Given the description of an element on the screen output the (x, y) to click on. 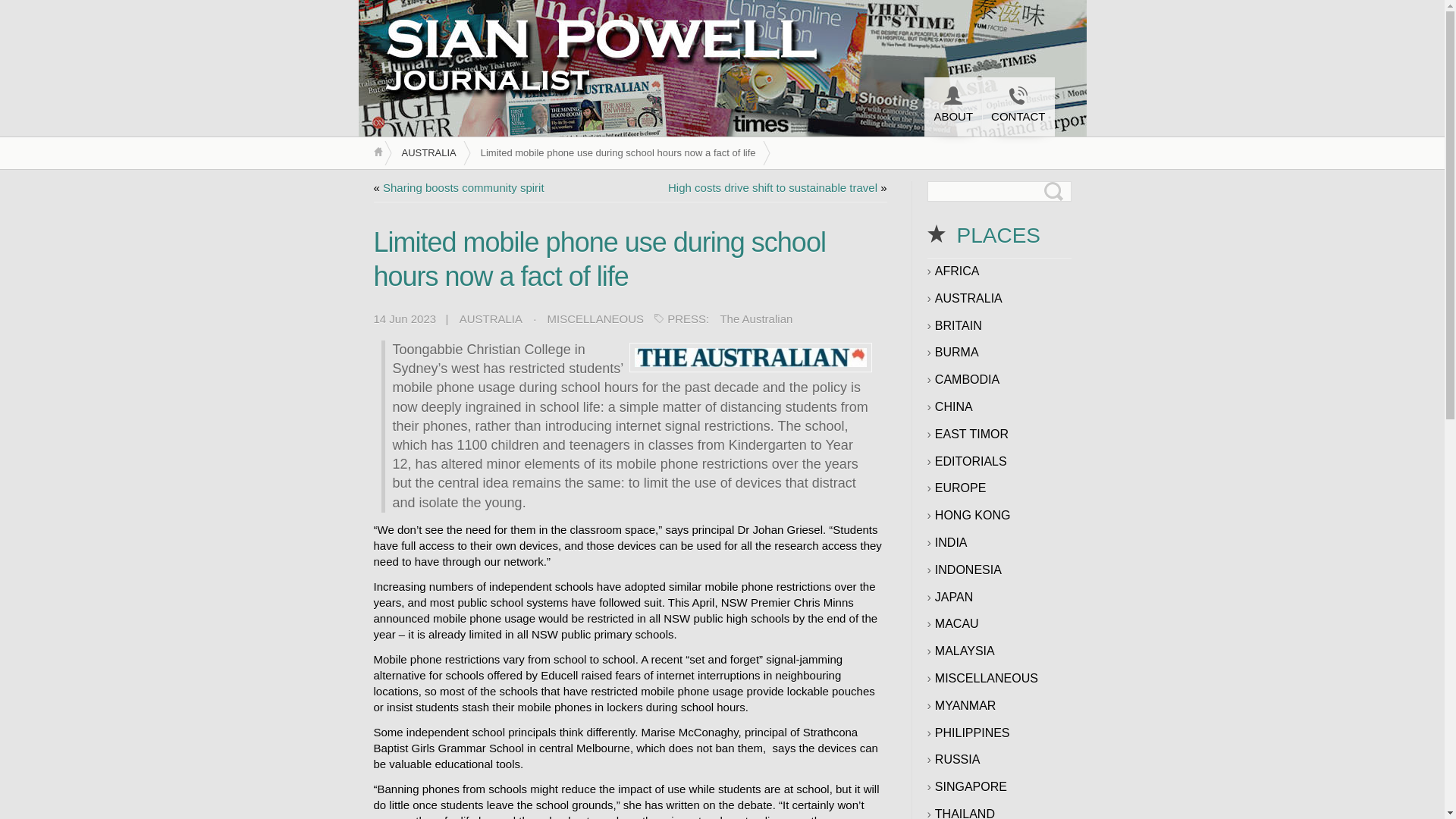
PHILIPPINES (972, 733)
ABOUT (952, 106)
search (10, 10)
RUSSIA (956, 759)
CONTACT (1017, 106)
INDONESIA (967, 570)
High costs drive shift to sustainable travel (772, 187)
INDIA (951, 543)
MISCELLANEOUS (596, 319)
